Given the description of an element on the screen output the (x, y) to click on. 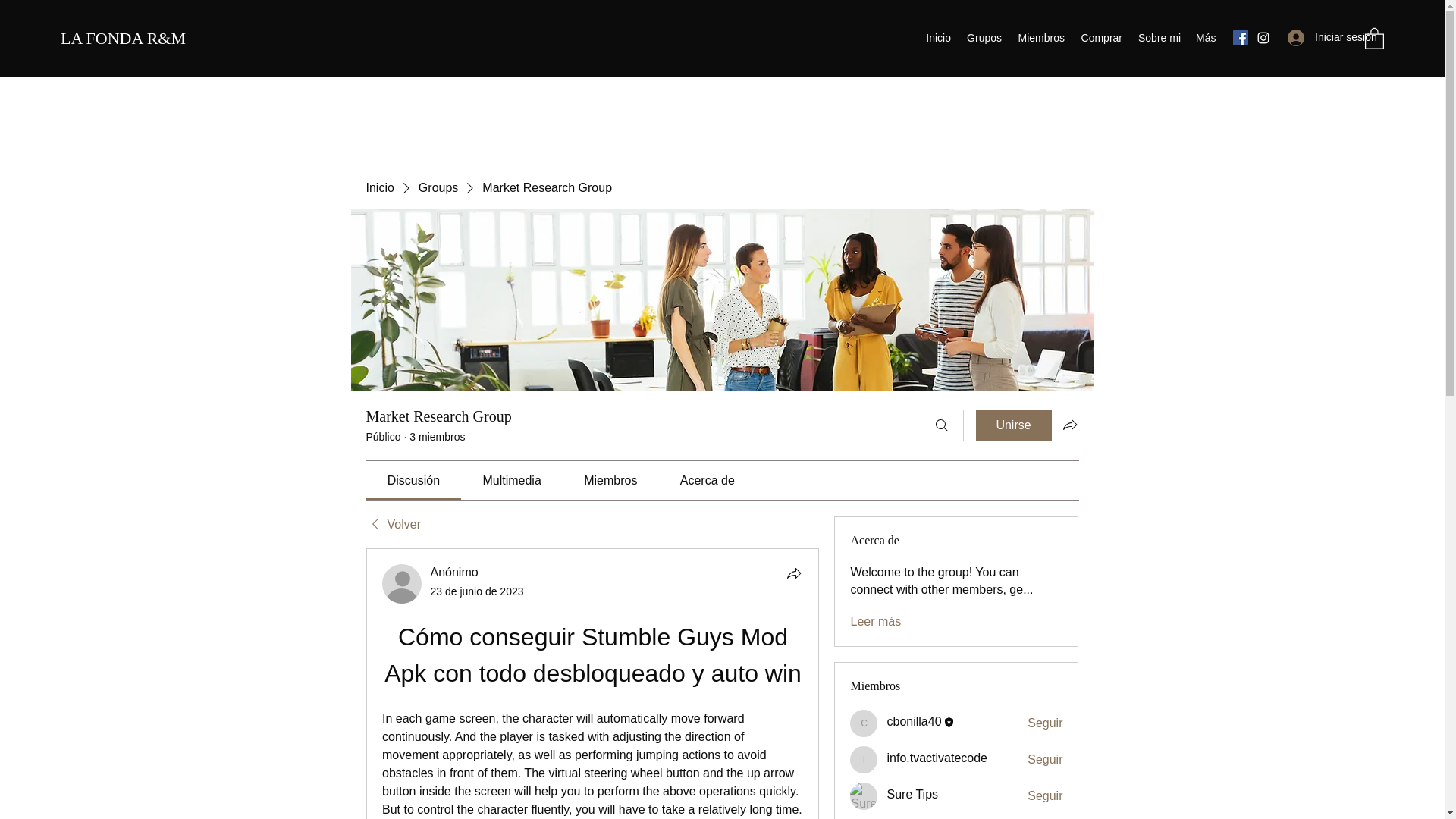
Sobre mi (1158, 37)
cbonilla40 (863, 723)
Inicio (379, 187)
info.tvactivatecode (936, 757)
cbonilla40 (913, 721)
Seguir (1044, 759)
Groups (438, 187)
Seguir (1044, 723)
Grupos (983, 37)
Sure Tips (863, 795)
info.tvactivatecode (863, 759)
Unirse (1013, 425)
Comprar (1100, 37)
Inicio (938, 37)
23 de junio de 2023 (477, 591)
